Given the description of an element on the screen output the (x, y) to click on. 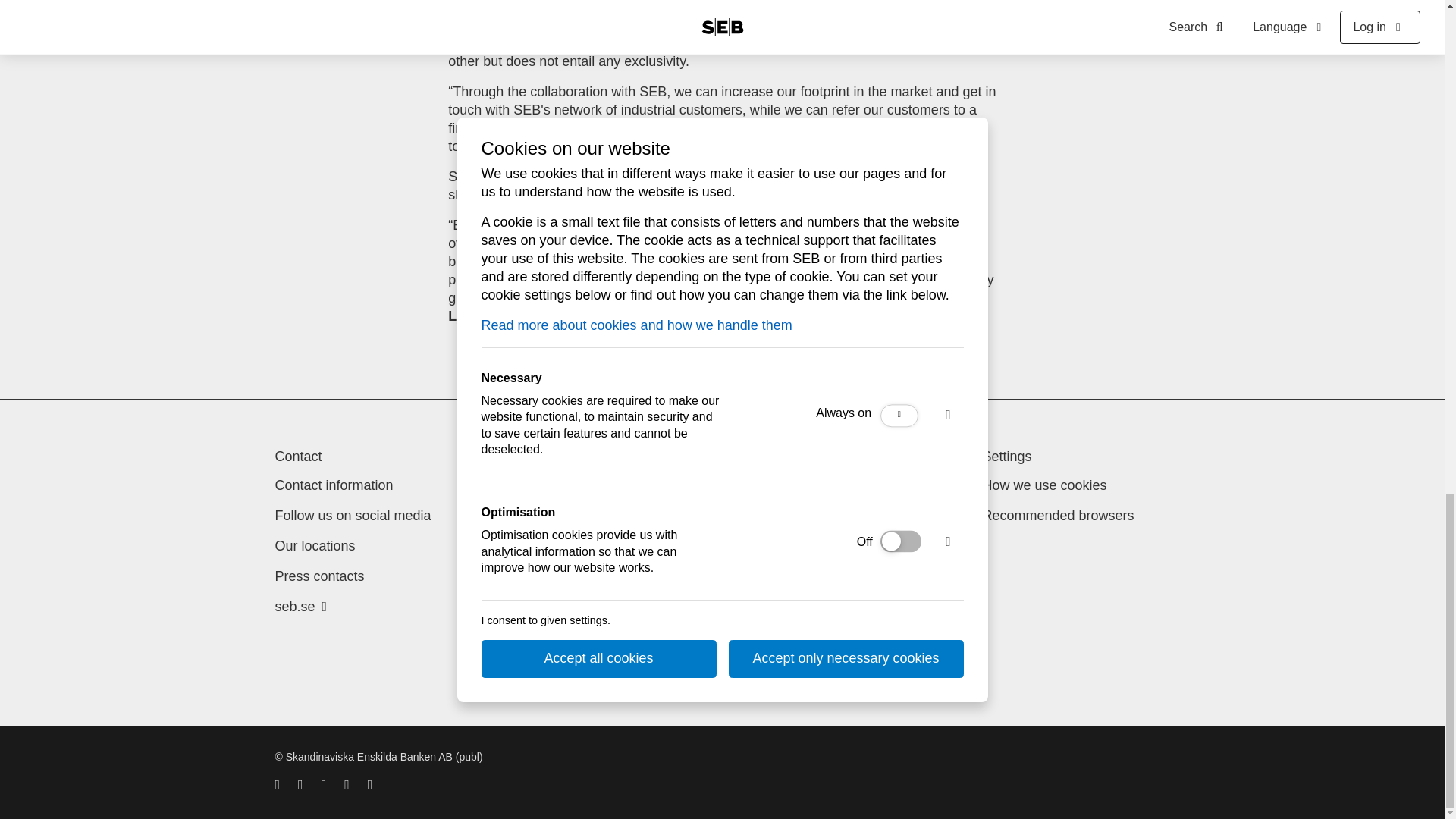
Reports and publications (586, 606)
Swap rates (545, 667)
Contact information (334, 485)
Events (532, 515)
Contact information (334, 485)
Authorisation (785, 533)
IBAN (527, 575)
seb.se (300, 606)
seb.se (300, 606)
SEB's green bonds (569, 636)
Follow us on social media (352, 515)
Financial calendar (566, 545)
Annual general meeting (583, 485)
Our locations (315, 545)
Follow us on social media (352, 515)
